Given the description of an element on the screen output the (x, y) to click on. 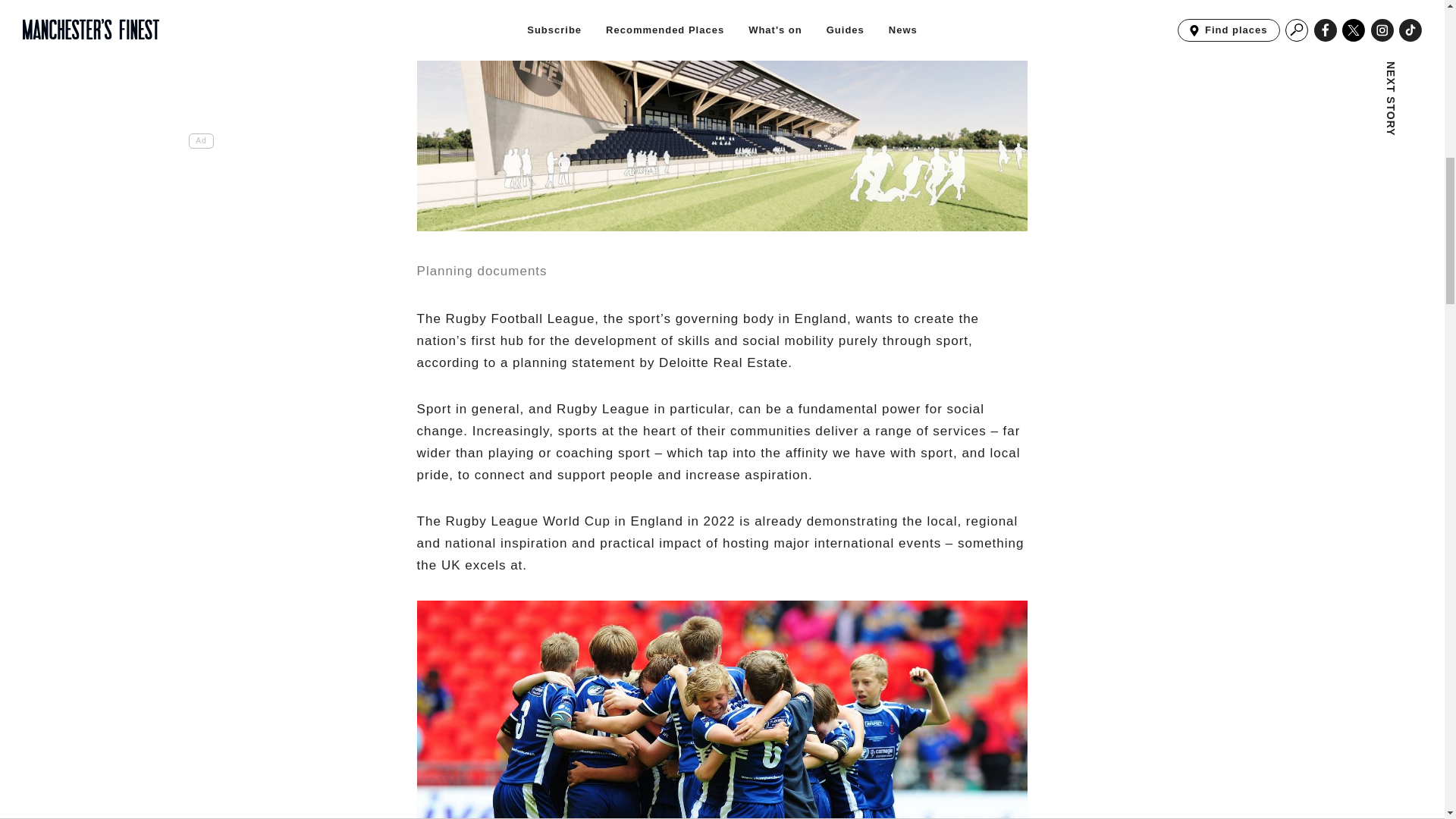
NEXT STORY (1297, 37)
